Given the description of an element on the screen output the (x, y) to click on. 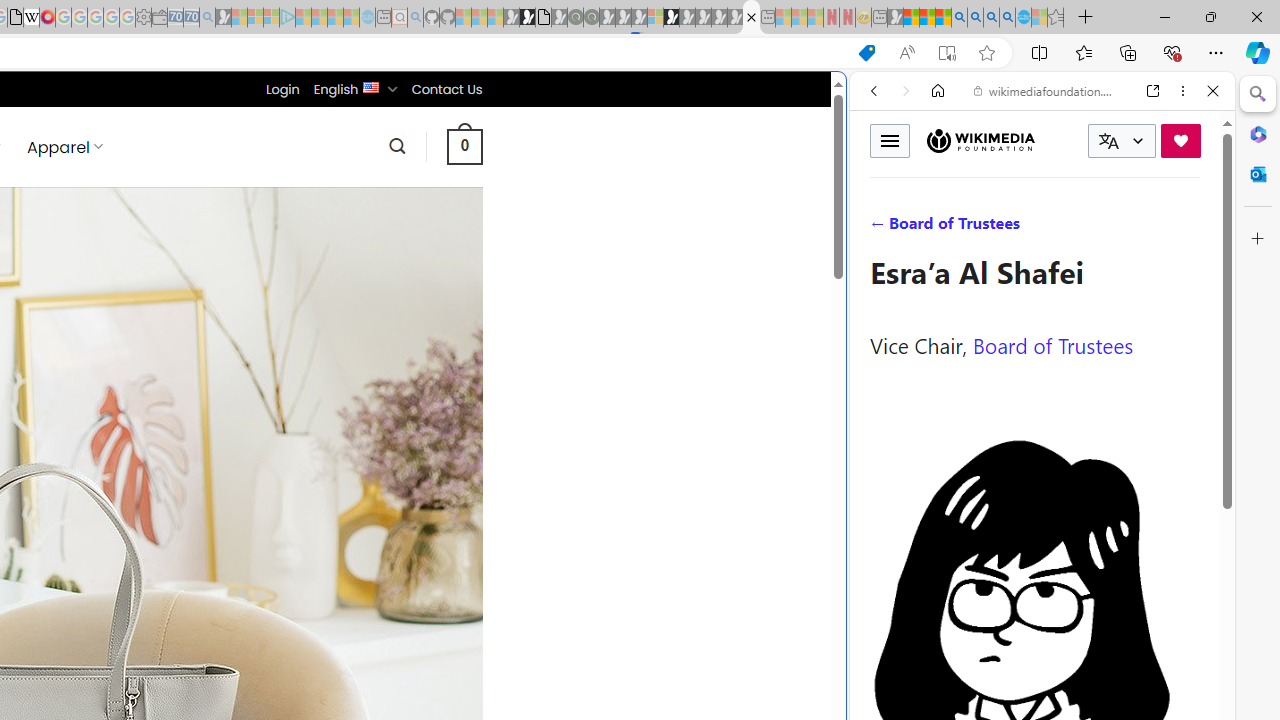
This site has coupons! Shopping in Microsoft Edge, 4 (867, 53)
Contact Us (446, 89)
Donate now (1180, 140)
Search or enter web address (343, 191)
Favorites - Sleeping (1055, 17)
